Given the description of an element on the screen output the (x, y) to click on. 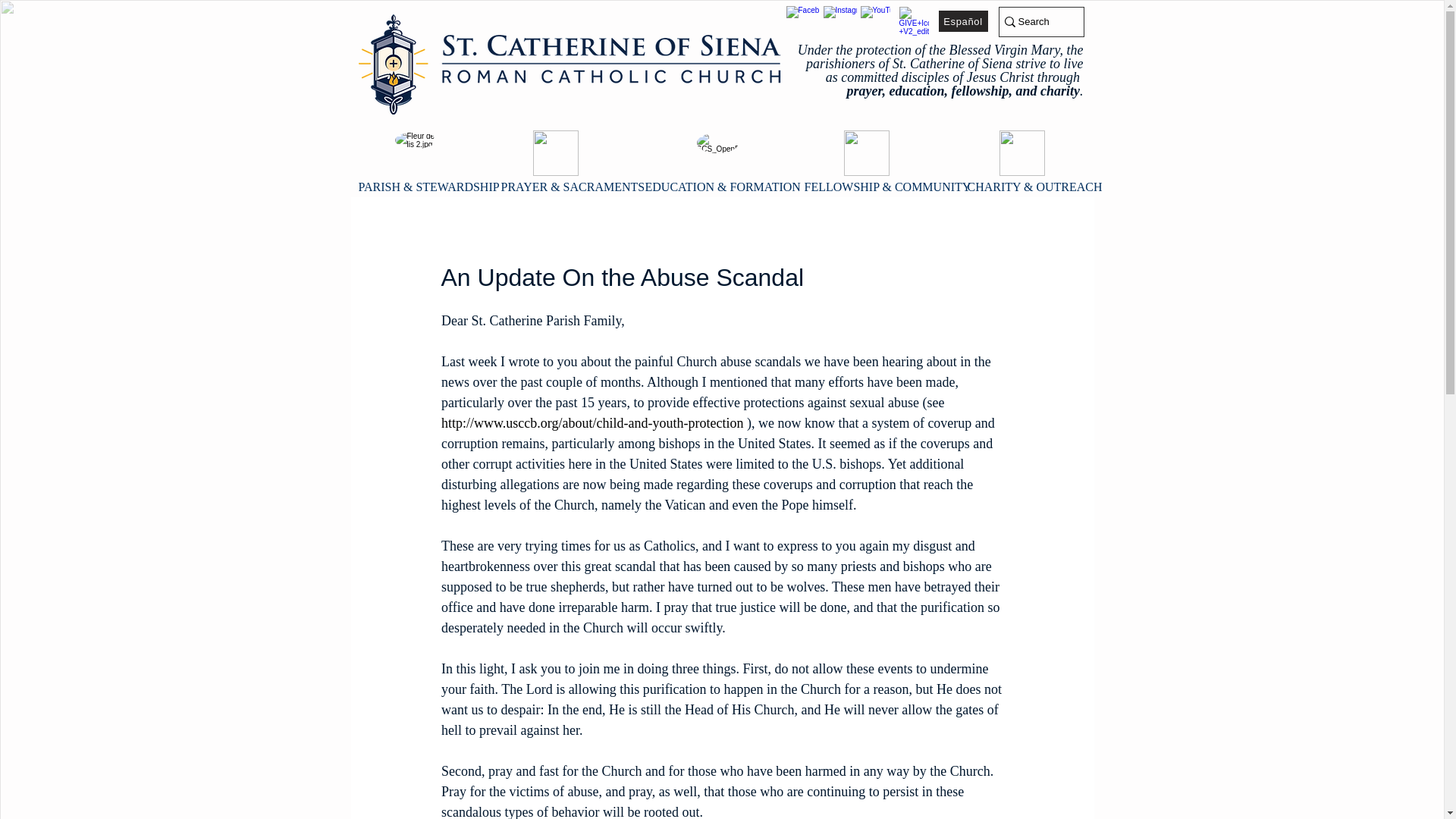
fellowship cropped.png (865, 153)
Outreach cropped.png (1021, 153)
prayer cropped.png (555, 153)
fellowship cropped.png (716, 153)
